Given the description of an element on the screen output the (x, y) to click on. 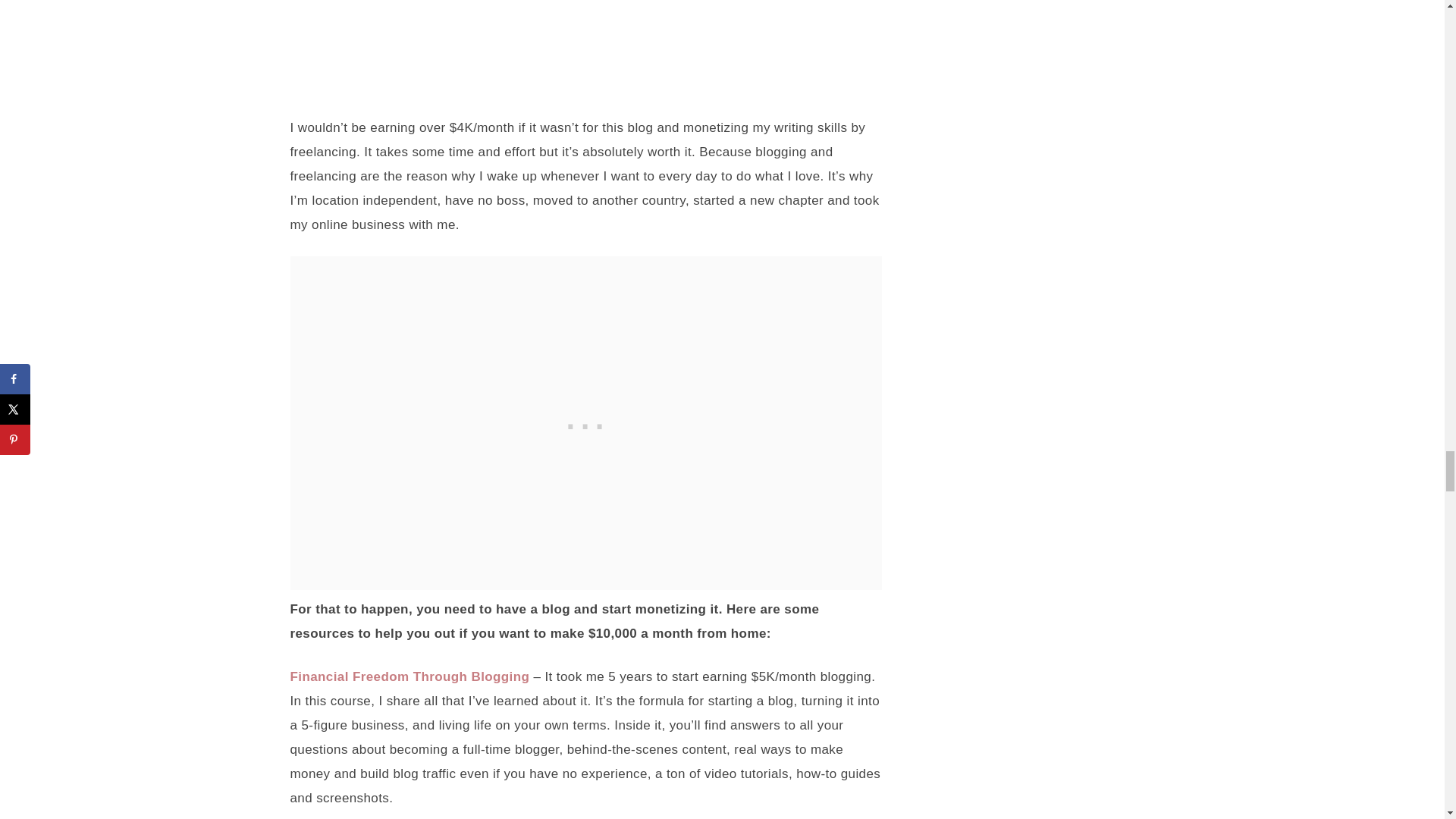
Financial Freedom Through Blogging (409, 676)
